Given the description of an element on the screen output the (x, y) to click on. 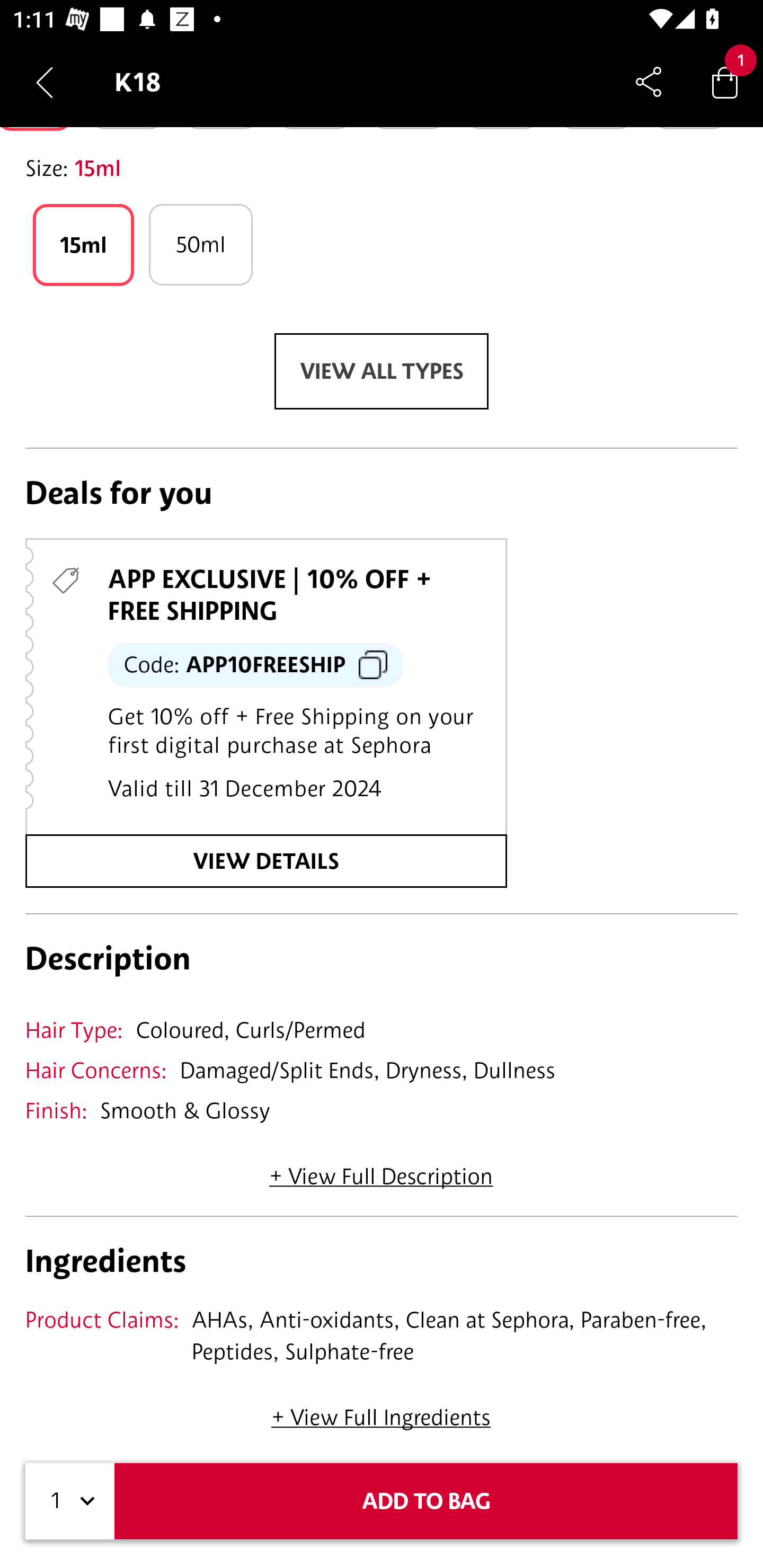
Navigate up (44, 82)
Share (648, 81)
Bag (724, 81)
15ml (83, 244)
50ml (200, 244)
VIEW ALL TYPES (381, 370)
VIEW DETAILS (266, 860)
+ View Full Description (380, 1169)
+ View Full Ingredients (380, 1410)
1 (69, 1500)
ADD TO BAG (425, 1500)
